Given the description of an element on the screen output the (x, y) to click on. 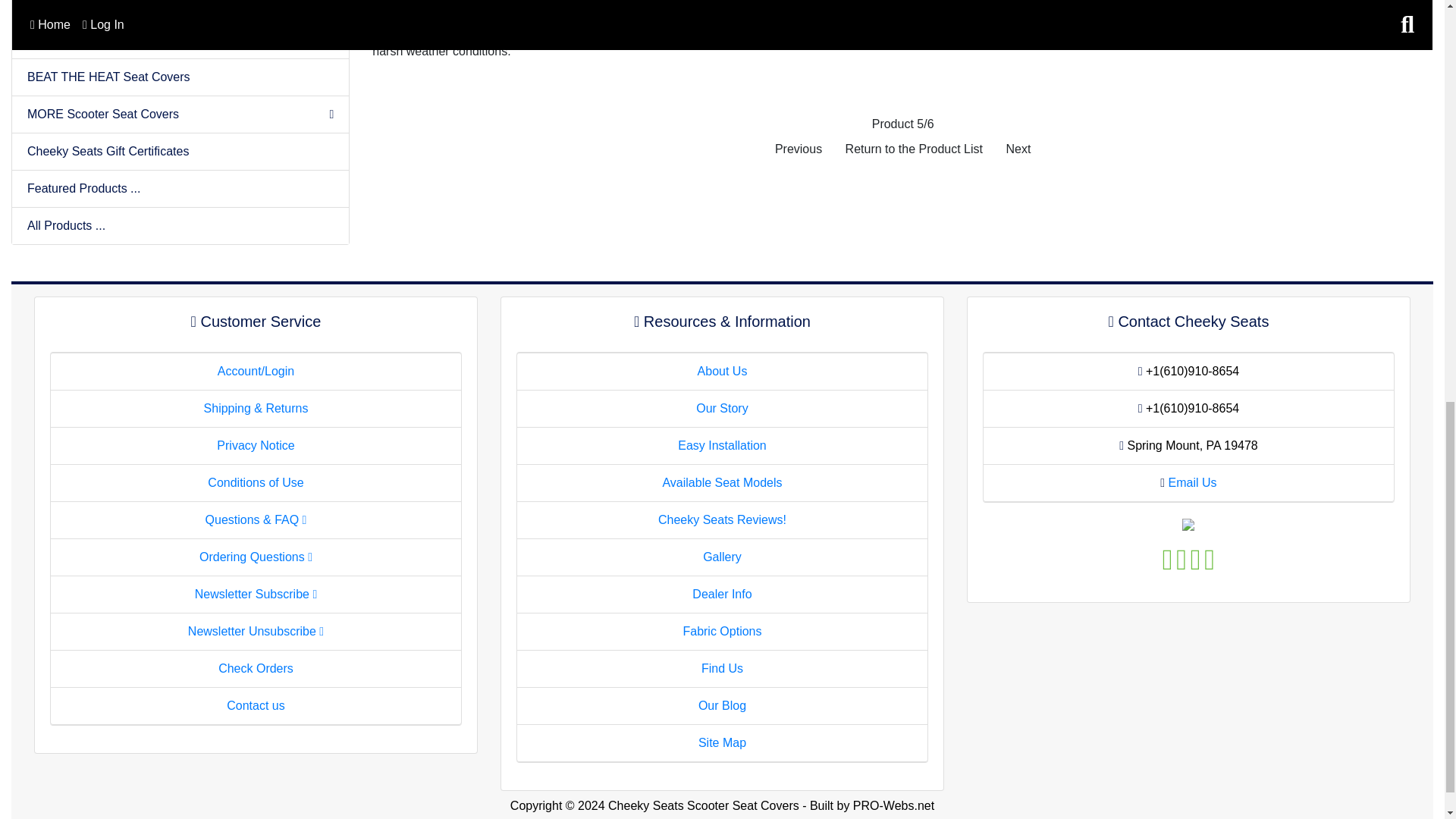
Available Seat Models (721, 481)
About Us (722, 370)
Ordering Questions (256, 556)
Newsletter Unsubscribe (255, 631)
Conditions of Use (255, 481)
Newsletter Subscribe (256, 594)
Easy Installation (722, 445)
Contact us (255, 705)
Check Orders (256, 667)
Privacy Notice (255, 445)
Our Story (721, 408)
Cheeky Seats Reviews! (722, 519)
Gallery (722, 556)
FAQ (256, 519)
